Given the description of an element on the screen output the (x, y) to click on. 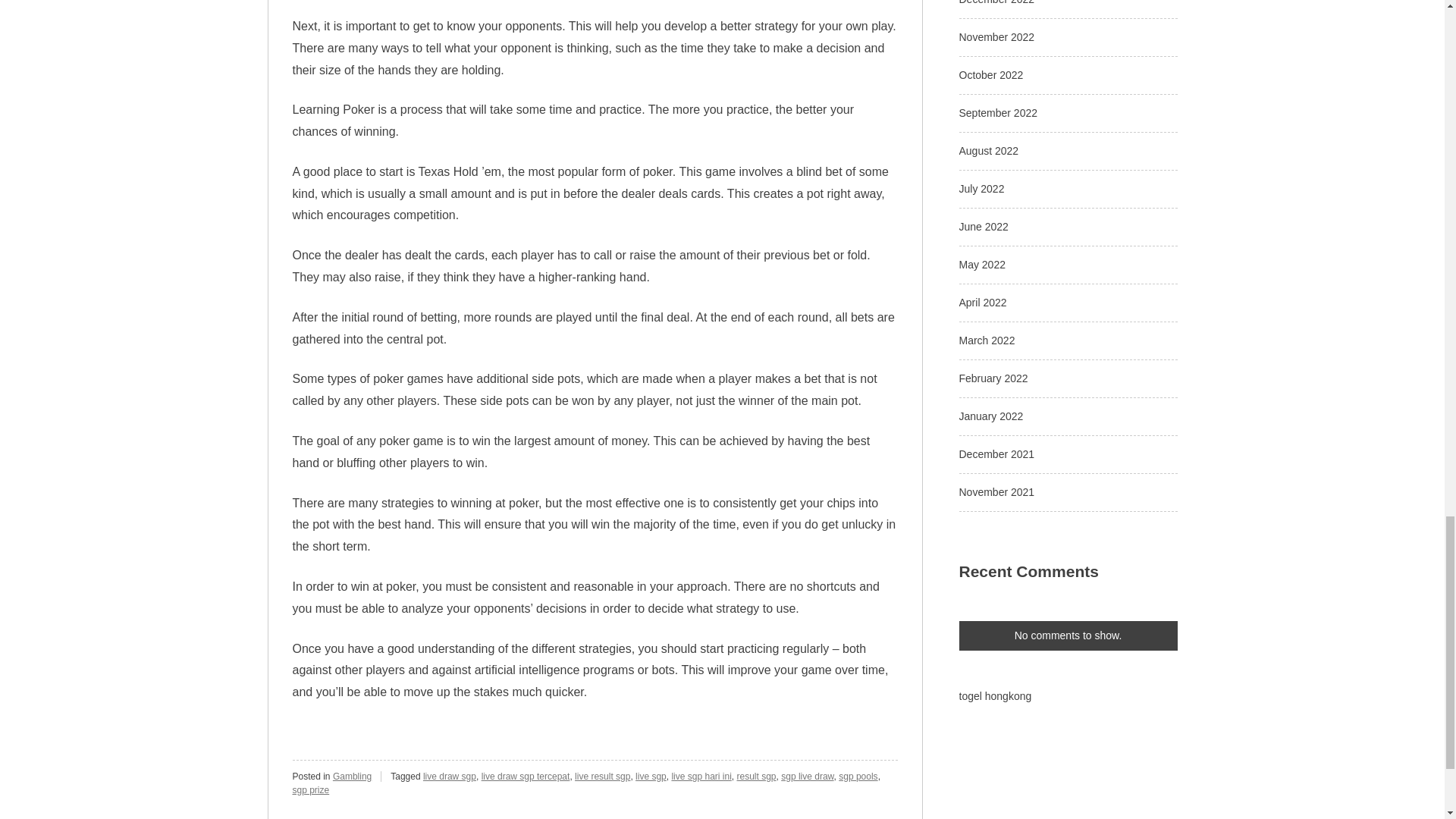
live sgp hari ini (700, 776)
live draw sgp (449, 776)
sgp pools (857, 776)
live draw sgp tercepat (525, 776)
Gambling (352, 776)
result sgp (756, 776)
sgp live draw (806, 776)
live sgp (650, 776)
sgp prize (311, 789)
live result sgp (602, 776)
